Given the description of an element on the screen output the (x, y) to click on. 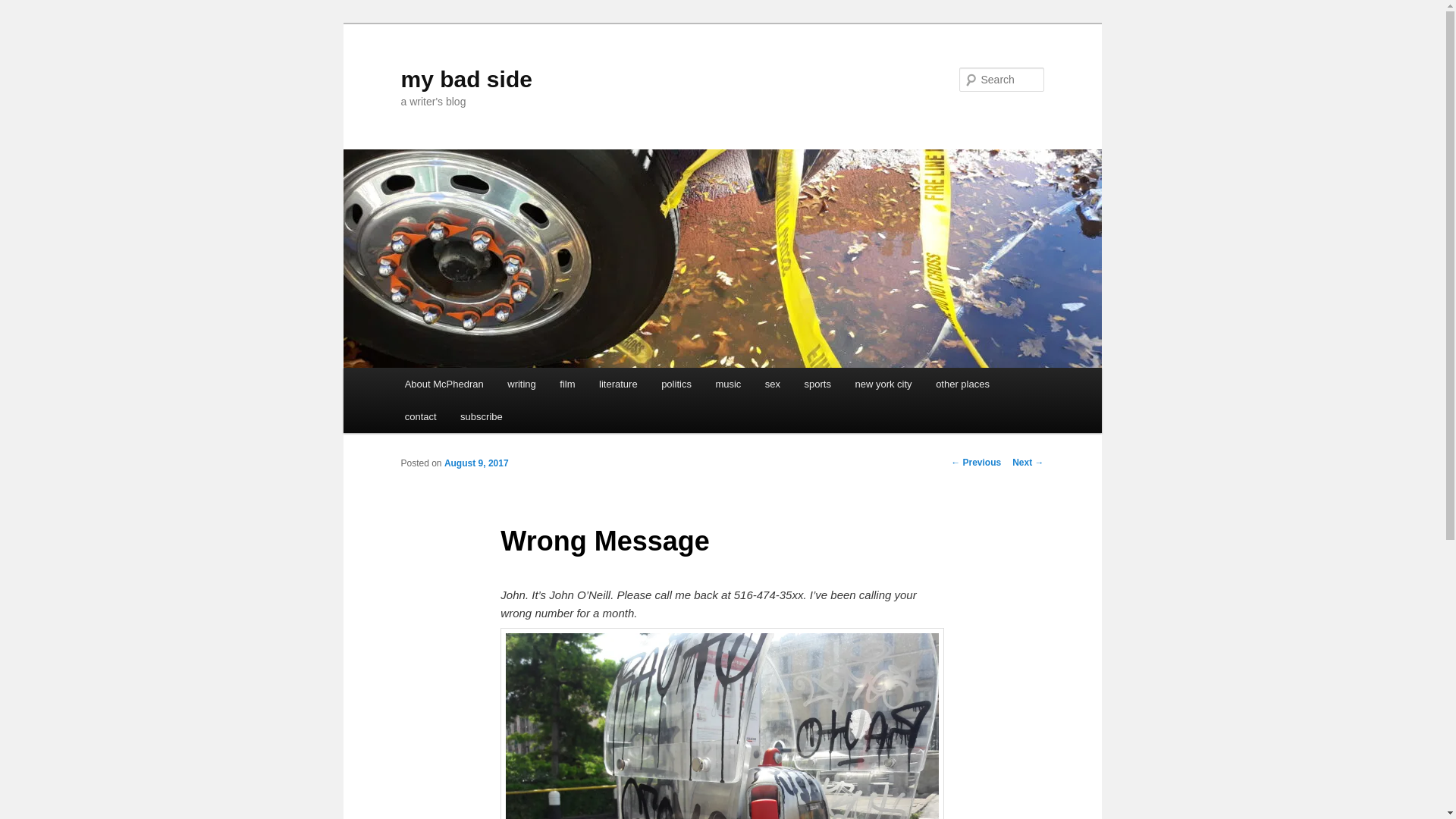
subscribe (480, 416)
August 9, 2017 (476, 462)
sex (772, 383)
6:45 am (476, 462)
Search (24, 8)
contact (420, 416)
literature (617, 383)
sports (817, 383)
other places (962, 383)
music (727, 383)
writing (522, 383)
politics (676, 383)
film (568, 383)
new york city (883, 383)
About McPhedran (444, 383)
